Given the description of an element on the screen output the (x, y) to click on. 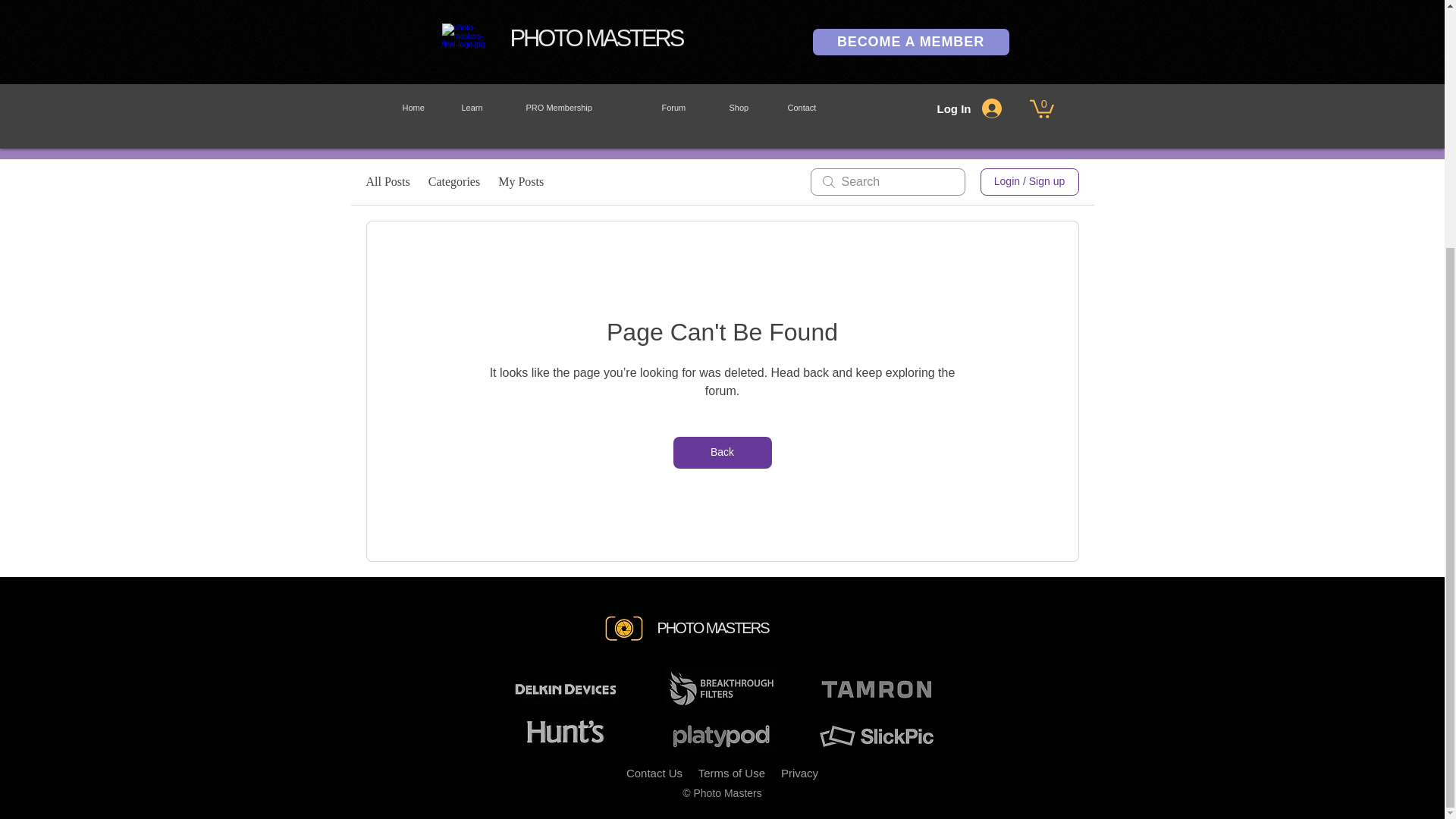
All Posts (387, 181)
My Posts (520, 181)
hunts.png (842, 64)
slickpic-logo.jpg (1040, 64)
Back (721, 452)
Categories (454, 181)
FREE PHOTOGRAPHY WEBINAR! (721, 133)
Forum rules and submission guidelines (722, 3)
